Given the description of an element on the screen output the (x, y) to click on. 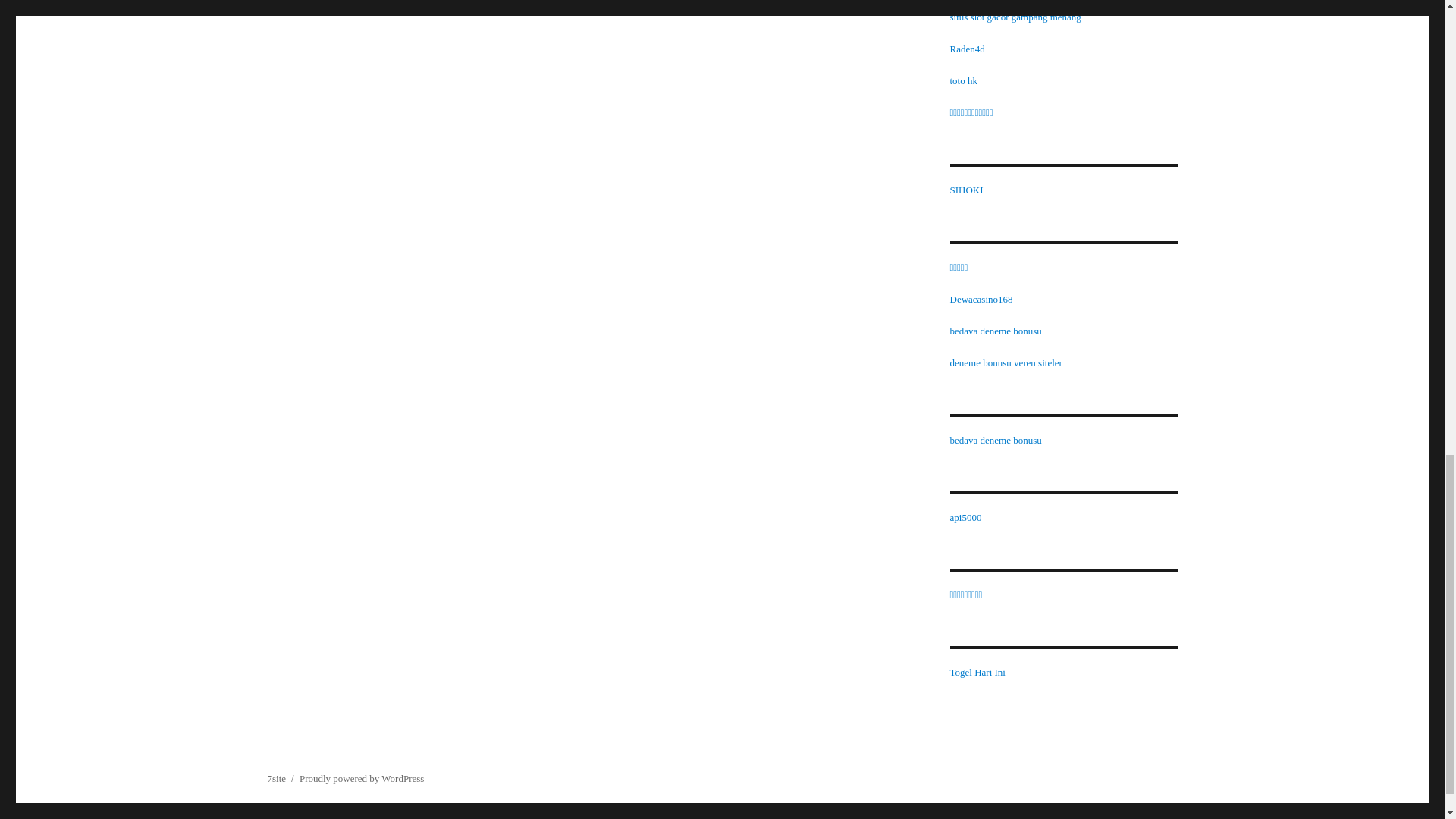
situs slot gacor gampang menang (1014, 16)
toto hk (962, 80)
bedava deneme bonusu (995, 330)
SIHOKI (965, 189)
bedava deneme bonusu (995, 439)
Raden4d (966, 48)
deneme bonusu veren siteler (1005, 362)
Dewacasino168 (980, 298)
